Given the description of an element on the screen output the (x, y) to click on. 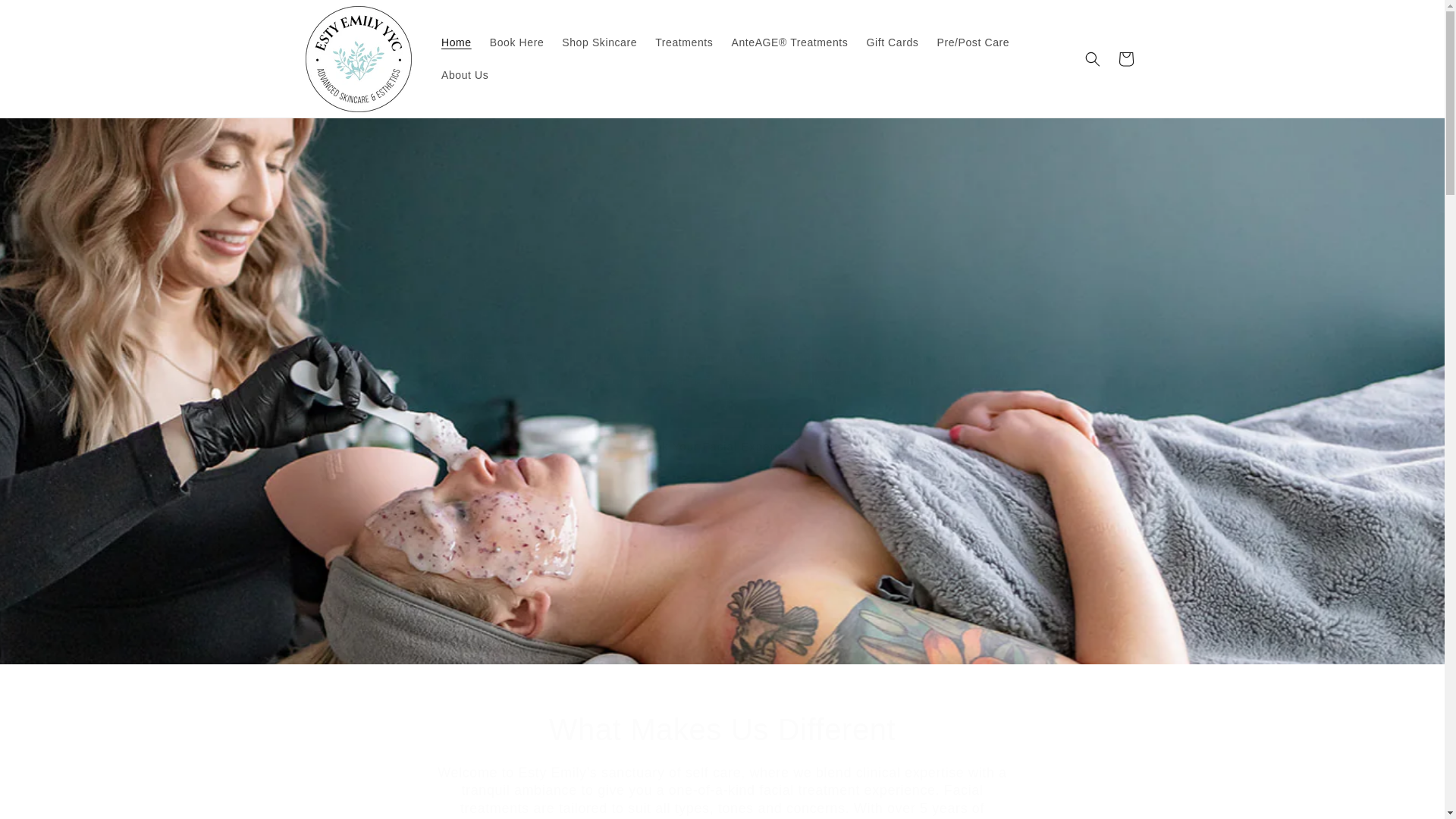
Book Your Facial Experience (721, 447)
Shop Skincare (599, 42)
Treatments (684, 42)
Book Here (516, 42)
Gift Cards (892, 42)
Cart (1124, 59)
What Makes Us Different (721, 729)
Home (456, 42)
Skip to content (45, 17)
About Us (464, 74)
